Given the description of an element on the screen output the (x, y) to click on. 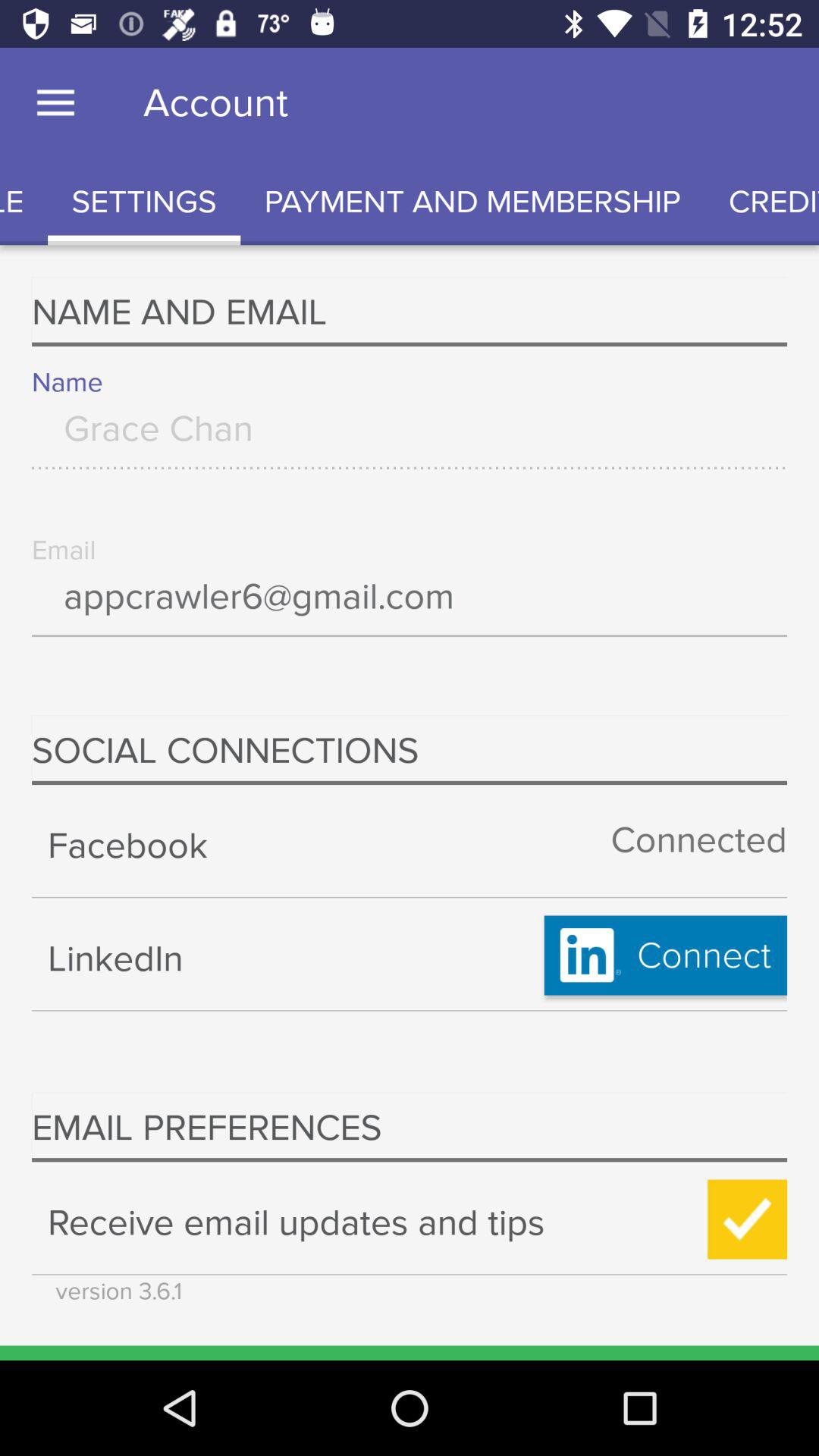
select button (747, 1219)
